Given the description of an element on the screen output the (x, y) to click on. 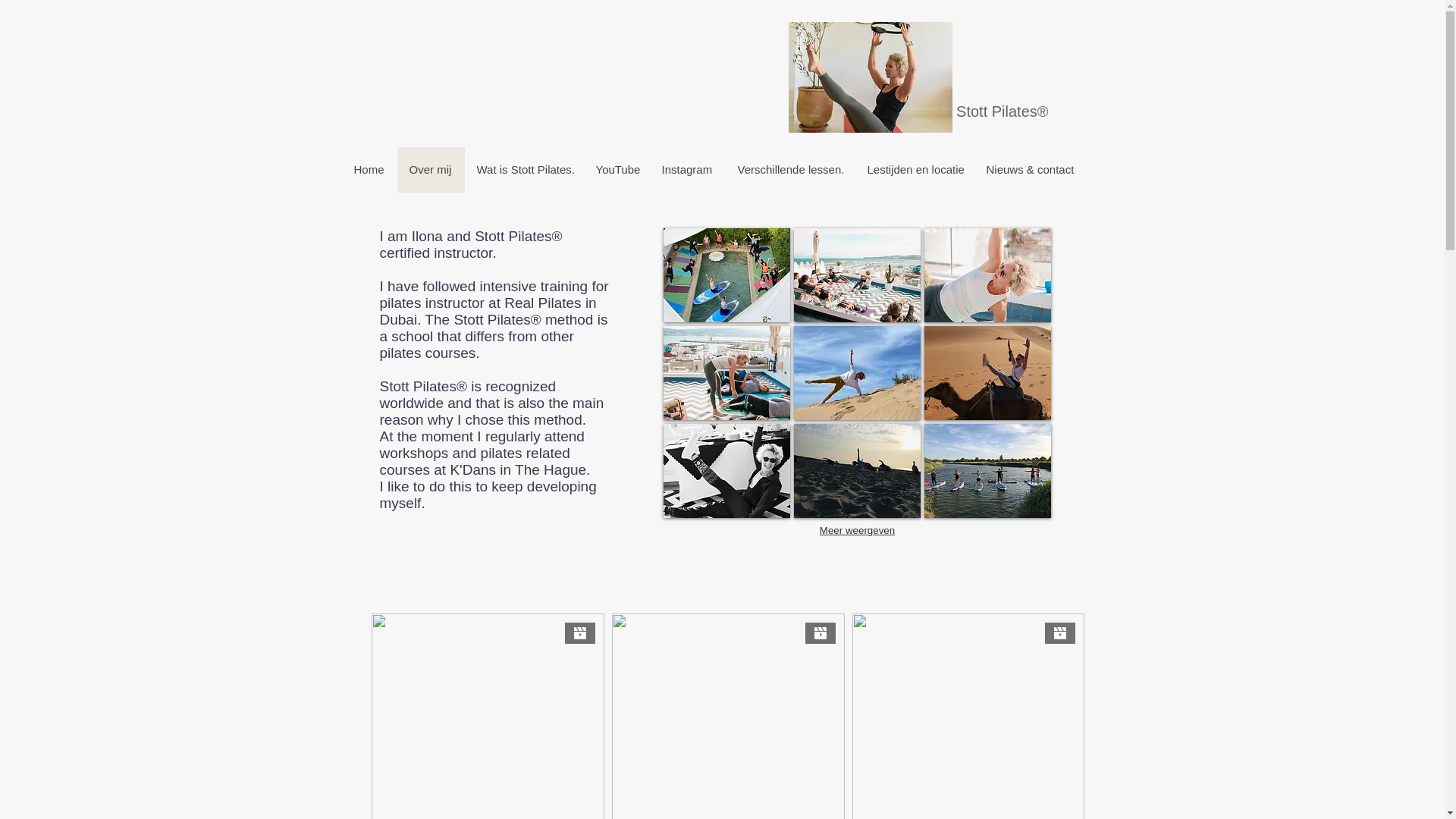
Over mij (430, 169)
Meer weergeven (857, 530)
Instagram (687, 169)
Wat is Stott Pilates. (523, 169)
Lestijden en locatie (915, 169)
Verschillende lessen. (789, 169)
Home (369, 169)
YouTube (616, 169)
